Given the description of an element on the screen output the (x, y) to click on. 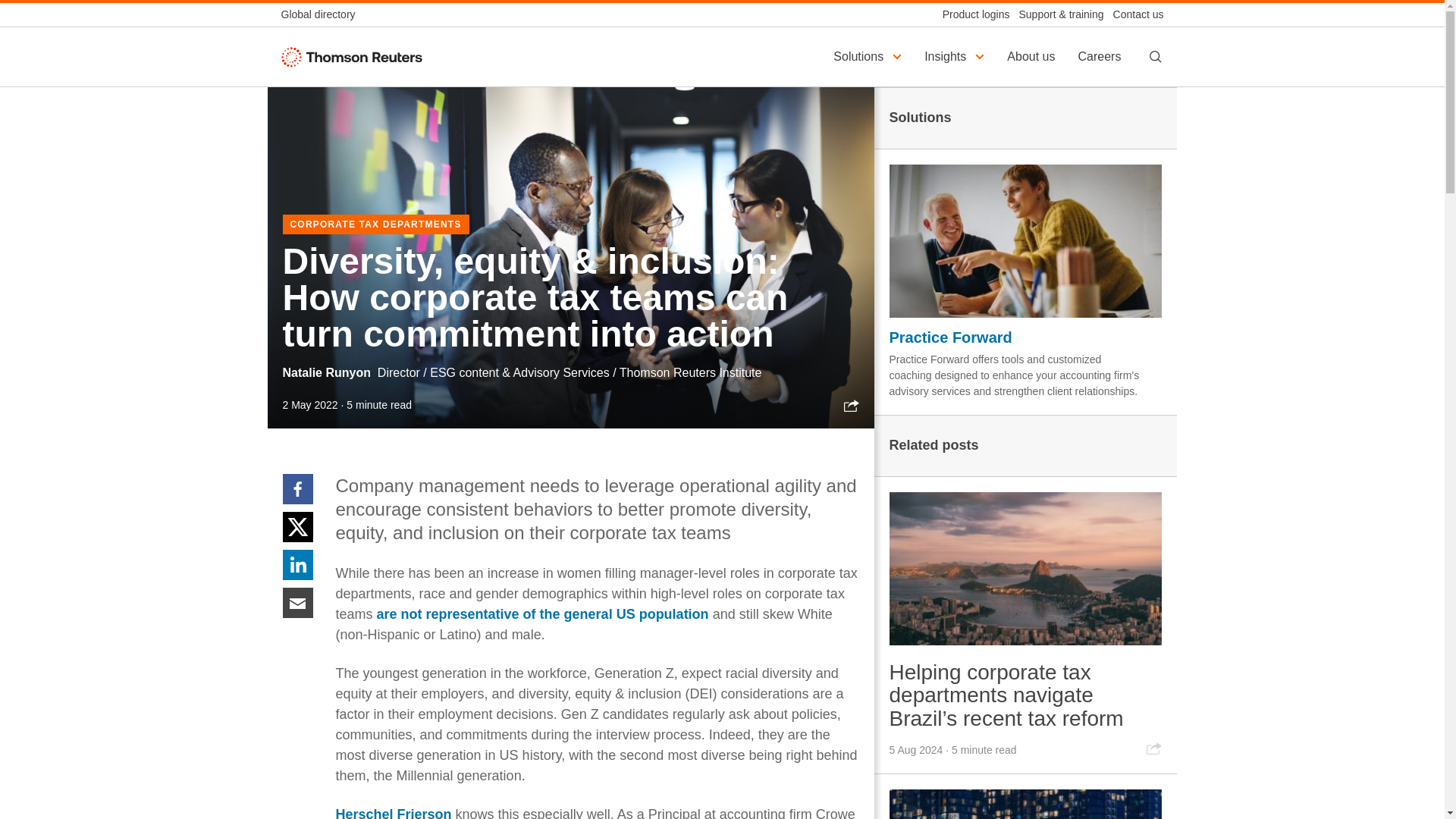
Product logins (971, 14)
Global directory (322, 14)
About us (1032, 56)
Insights (956, 56)
2 May 2022 (309, 404)
Twitter (297, 525)
Linkedin (297, 563)
Careers (1101, 56)
Solutions (869, 56)
Facebook (297, 487)
Contact us (1133, 14)
Thomson Reuters (355, 56)
Email (297, 601)
CORPORATE TAX DEPARTMENTS (375, 224)
